Given the description of an element on the screen output the (x, y) to click on. 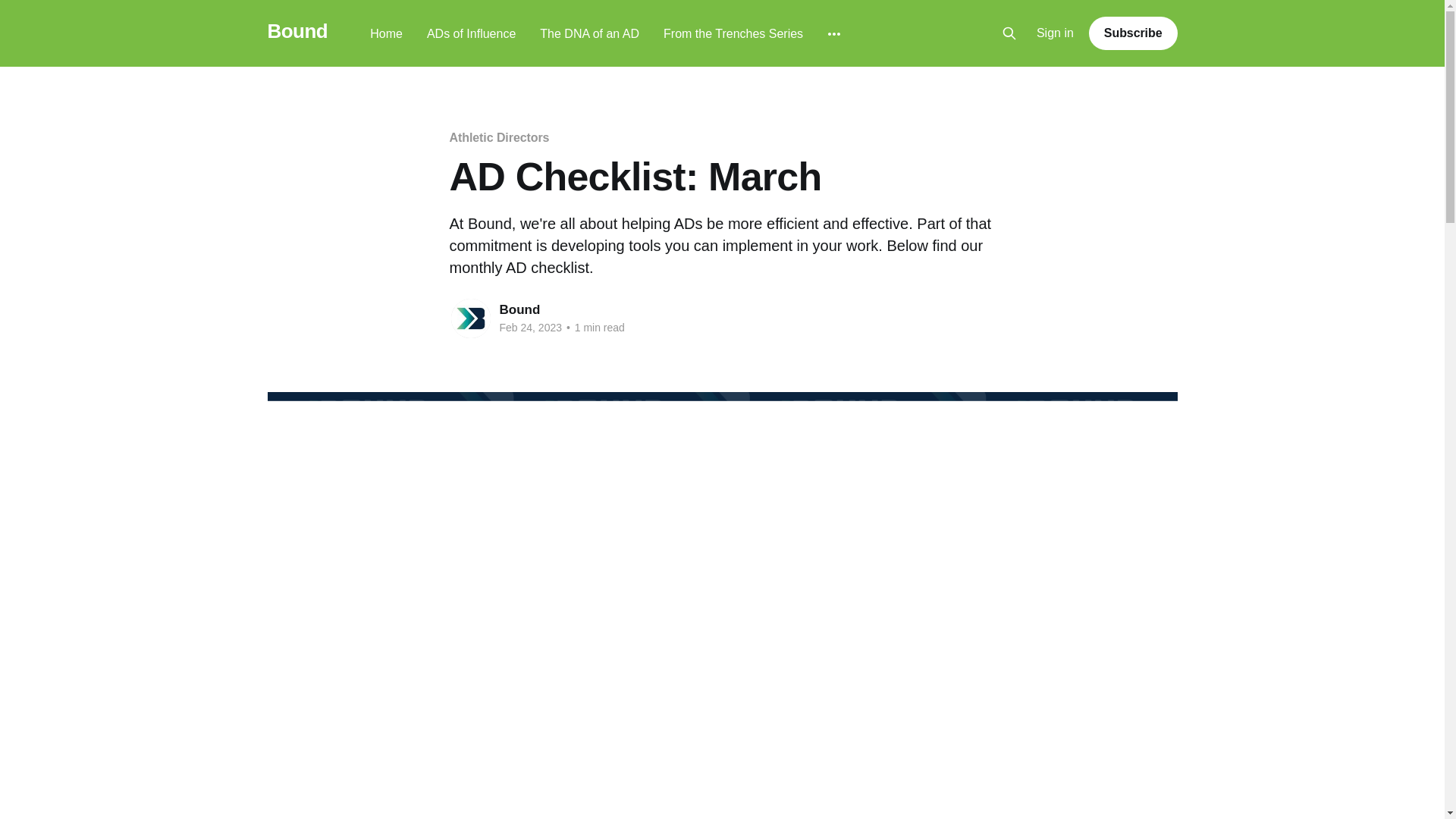
Subscribe (1133, 32)
Bound (296, 31)
ADs of Influence (470, 33)
The DNA of an AD (589, 33)
Sign in (1055, 33)
Athletic Directors (498, 137)
Bound (519, 309)
From the Trenches Series (733, 33)
Home (386, 33)
